Given the description of an element on the screen output the (x, y) to click on. 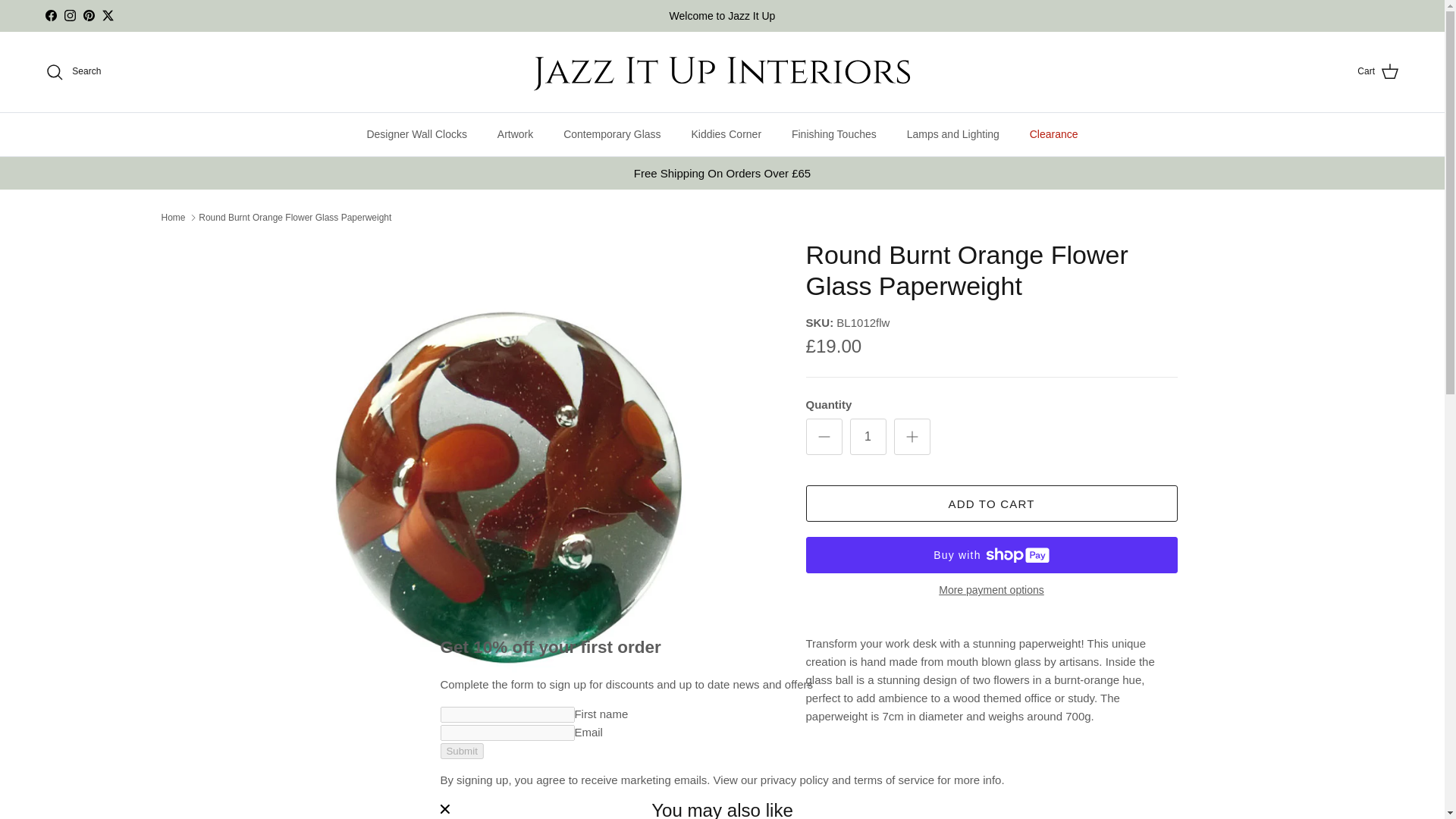
Designer Wall Clocks (416, 134)
Jazz It Up Interiors (721, 71)
Instagram (69, 15)
Search (72, 72)
Facebook (50, 15)
1 (866, 436)
Jazz It Up Interiors on Facebook (50, 15)
Artwork (515, 134)
Pinterest (88, 15)
Cart (1377, 71)
Jazz It Up Interiors on Pinterest (88, 15)
Jazz It Up Interiors on Instagram (69, 15)
Jazz It Up Interiors on Twitter (107, 15)
Twitter (107, 15)
Contemporary Glass (612, 134)
